Given the description of an element on the screen output the (x, y) to click on. 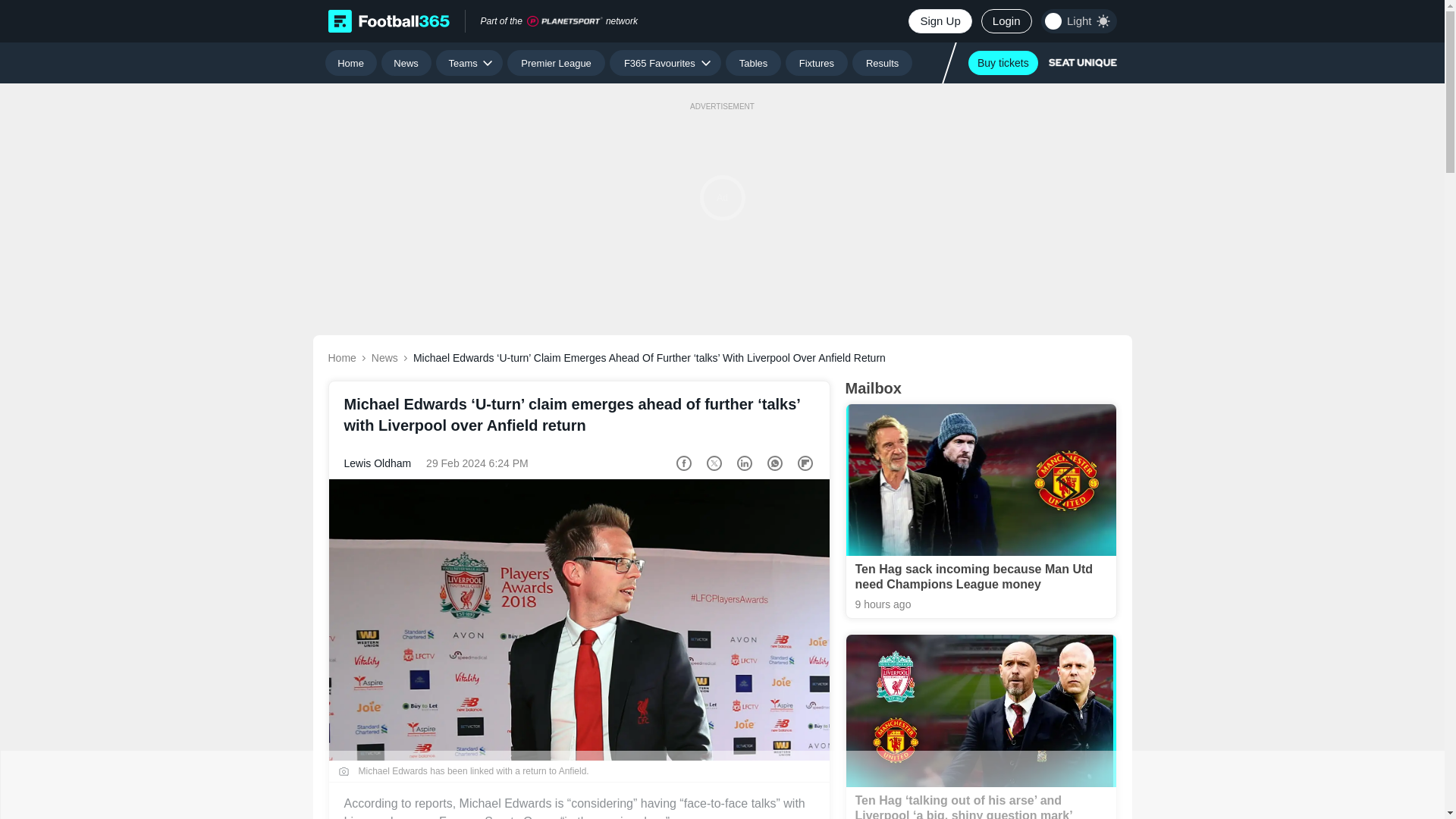
Tables (752, 62)
3rd party ad content (721, 785)
Fixtures (817, 62)
News (405, 62)
Sign Up (939, 21)
F365 Favourites (665, 62)
Results (881, 62)
Login (1006, 21)
Premier League (555, 62)
Home (349, 62)
Teams (468, 62)
